Given the description of an element on the screen output the (x, y) to click on. 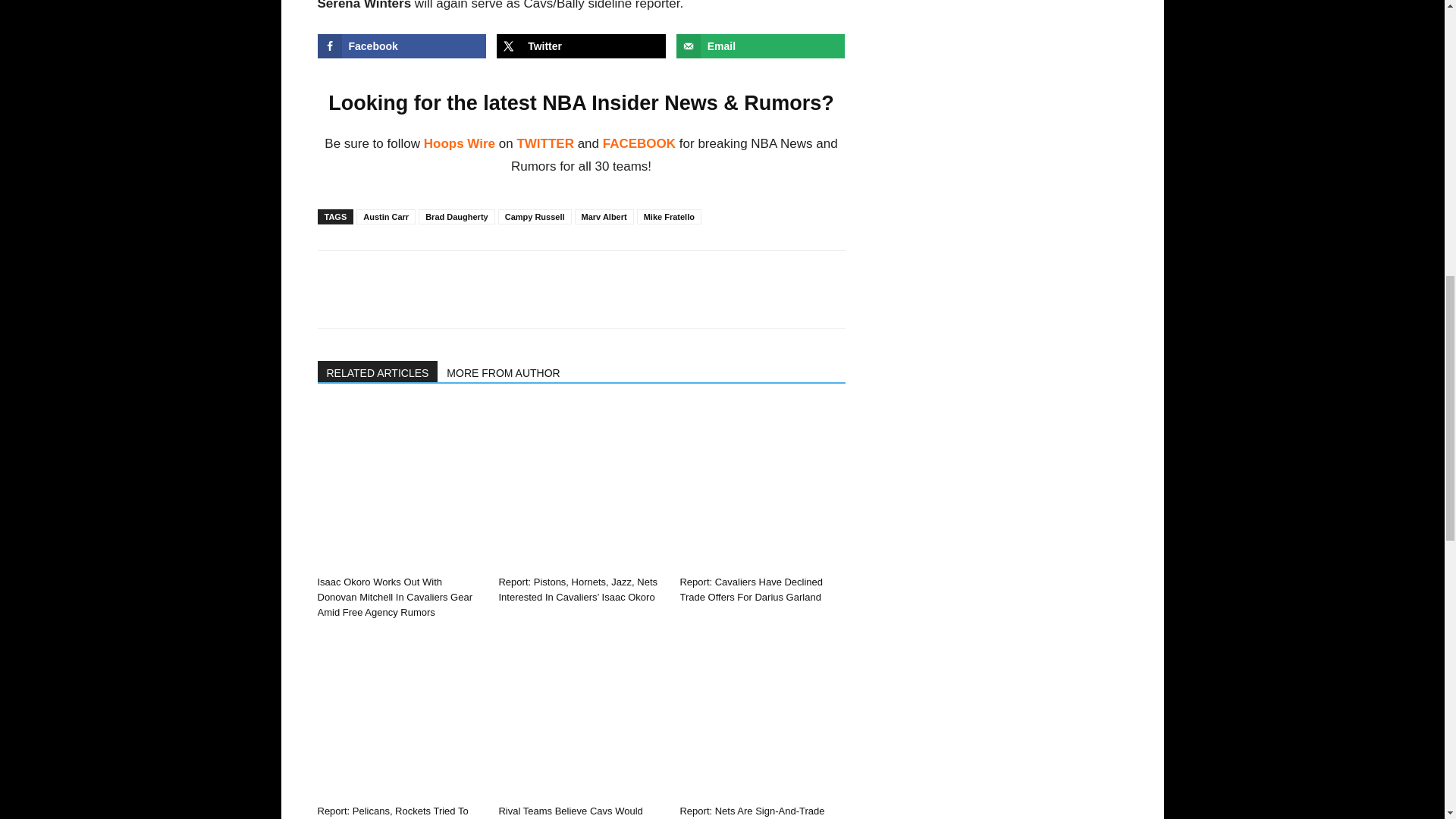
Share on X (580, 46)
Send over email (761, 46)
Share on Facebook (401, 46)
